Given the description of an element on the screen output the (x, y) to click on. 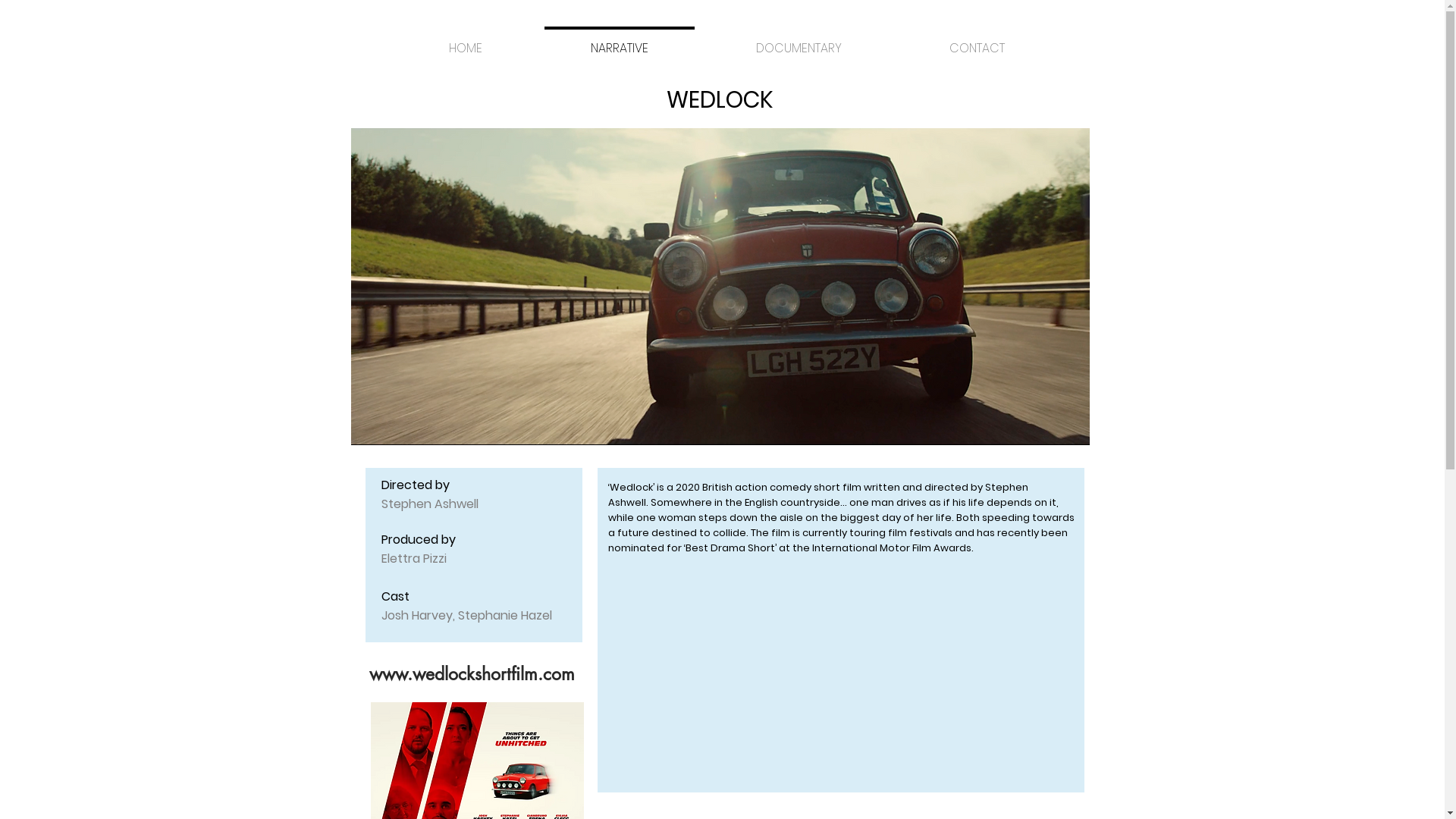
NARRATIVE Element type: text (619, 41)
HOME Element type: text (465, 41)
CONTACT Element type: text (975, 41)
www.wedlockshortfilm.com Element type: text (471, 673)
DOCUMENTARY Element type: text (798, 41)
